Given the description of an element on the screen output the (x, y) to click on. 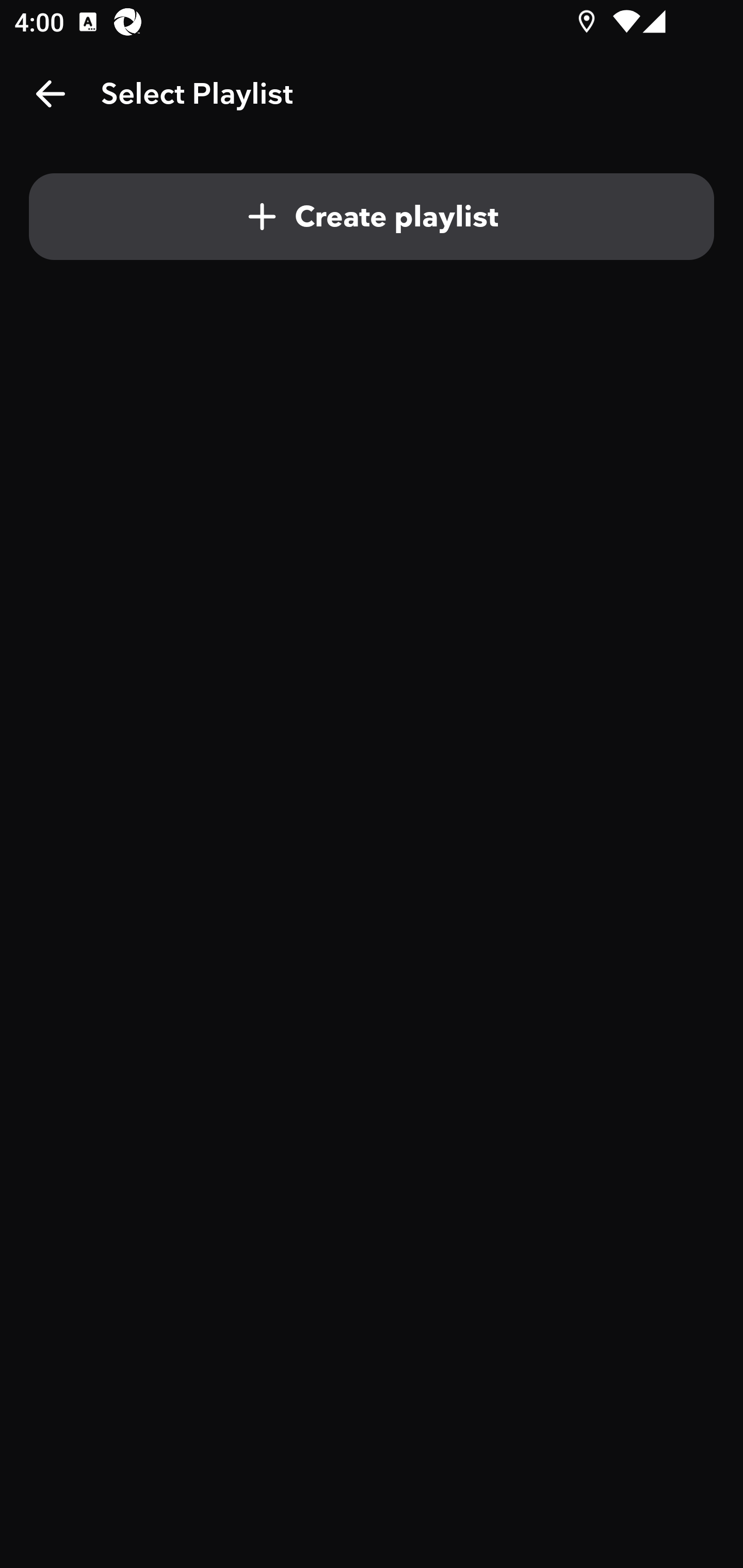
Back (50, 93)
Create playlist (371, 217)
